Given the description of an element on the screen output the (x, y) to click on. 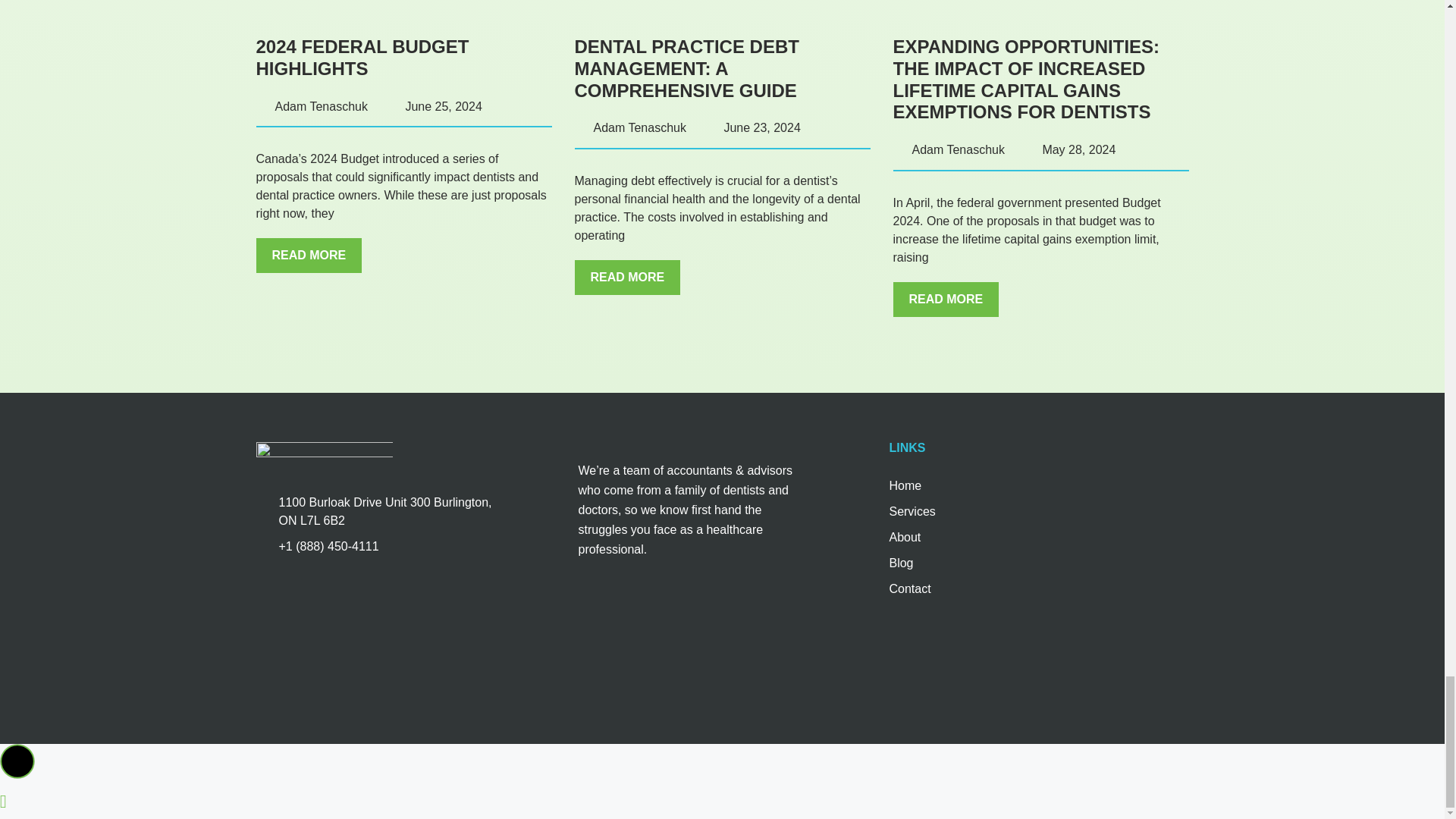
1100 Burloak Drive Unit 300 Burlington, ON L7L 6B2 (382, 627)
